Given the description of an element on the screen output the (x, y) to click on. 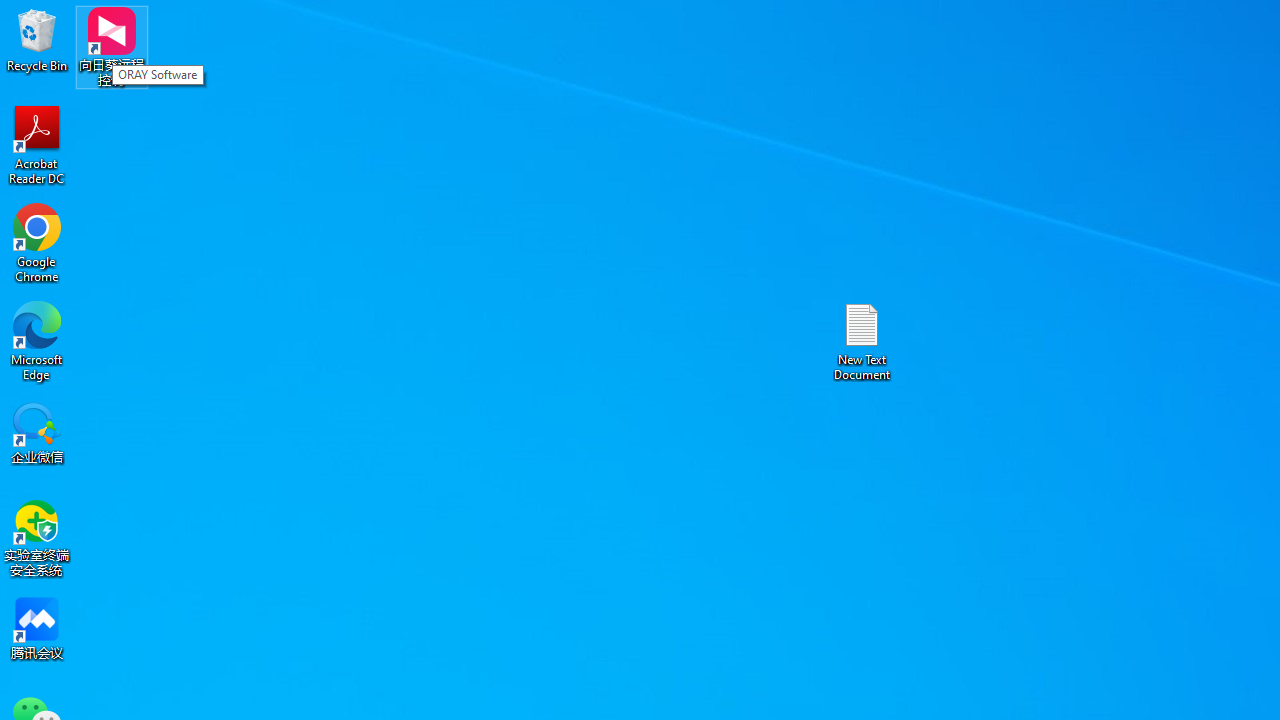
Microsoft Edge (37, 340)
Google Chrome (37, 242)
New Text Document (861, 340)
Acrobat Reader DC (37, 144)
Recycle Bin (37, 39)
